Given the description of an element on the screen output the (x, y) to click on. 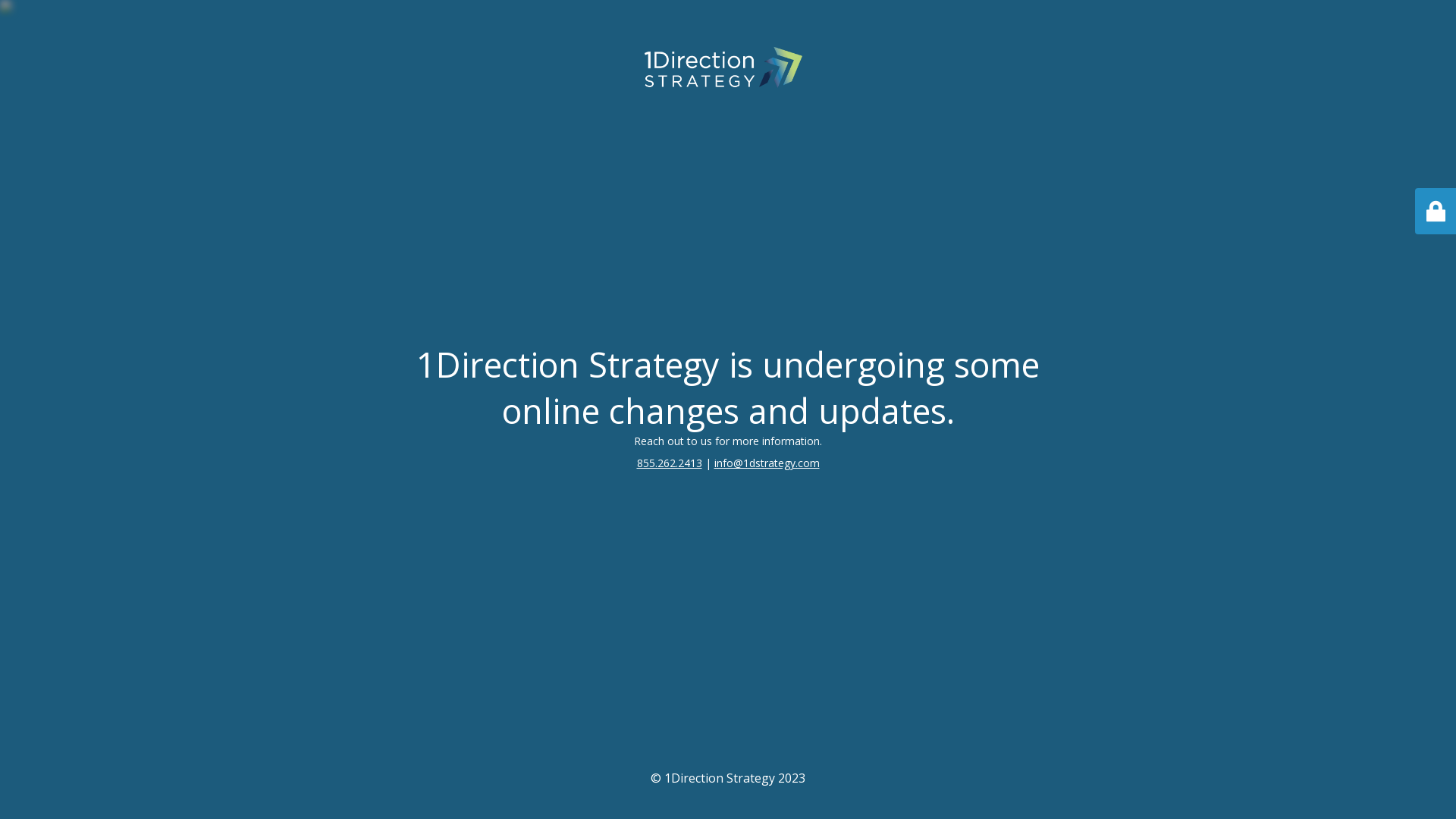
info@1dstrategy.com Element type: text (766, 462)
855.262.2413 Element type: text (669, 462)
